Given the description of an element on the screen output the (x, y) to click on. 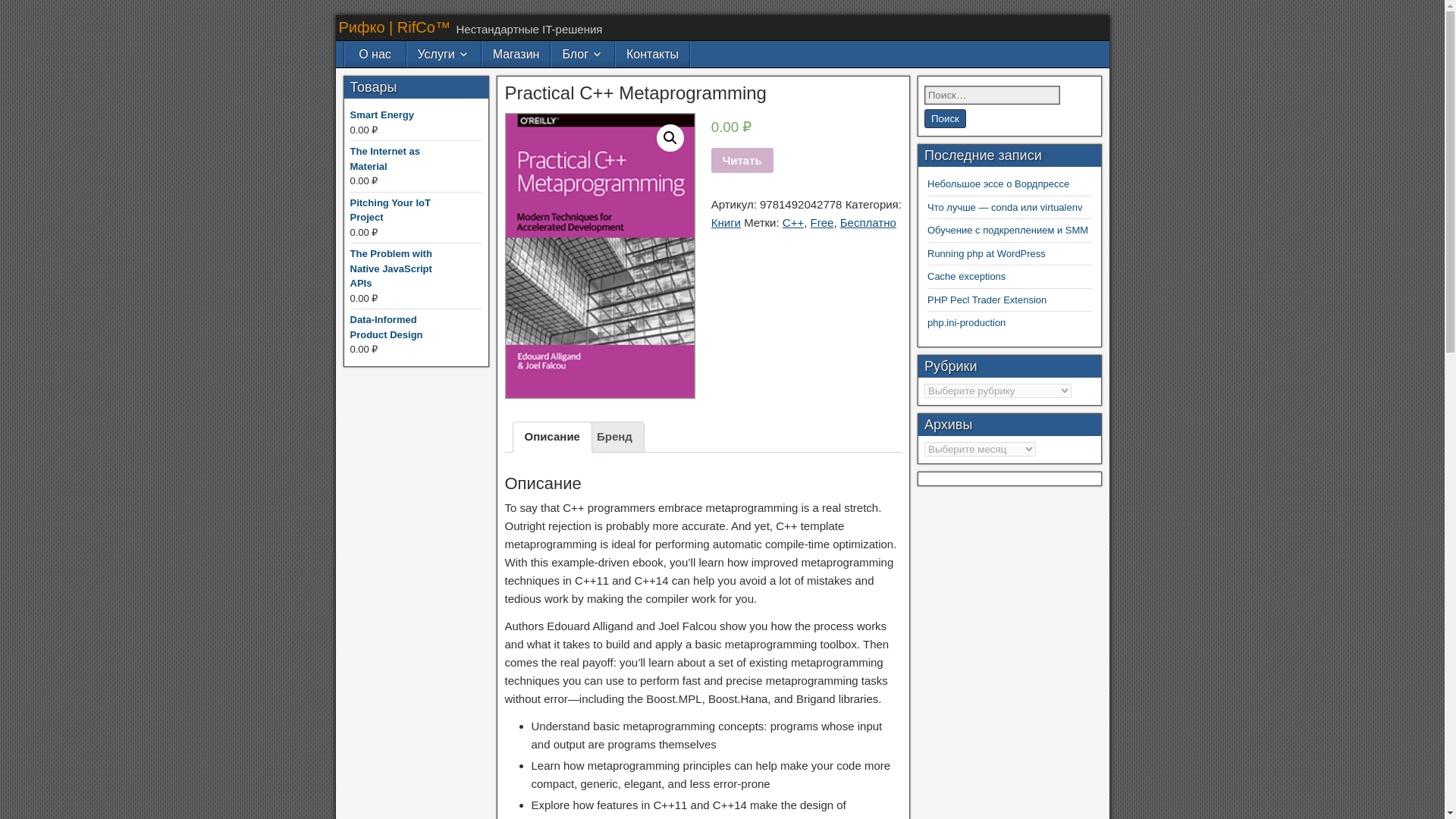
O'Reilly Media, Inc. (768, 352)
Free (822, 222)
